Given the description of an element on the screen output the (x, y) to click on. 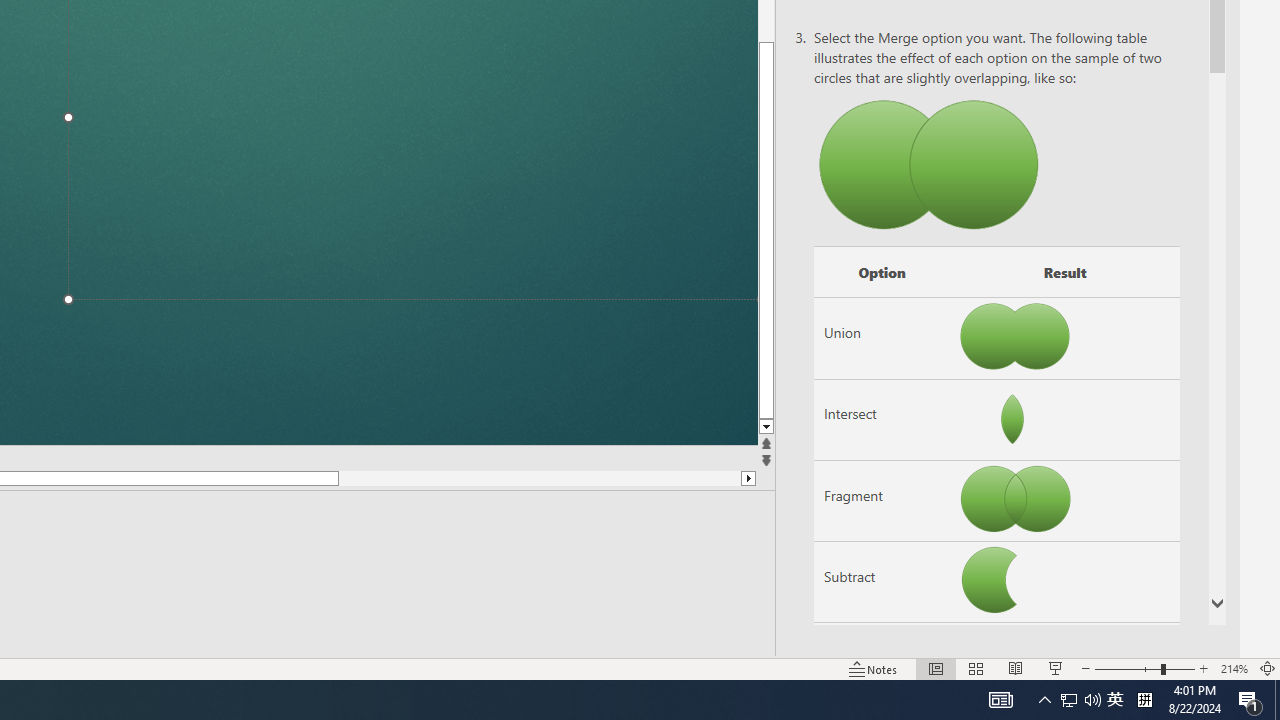
Subtract (881, 582)
Zoom 214% (1234, 668)
